Given the description of an element on the screen output the (x, y) to click on. 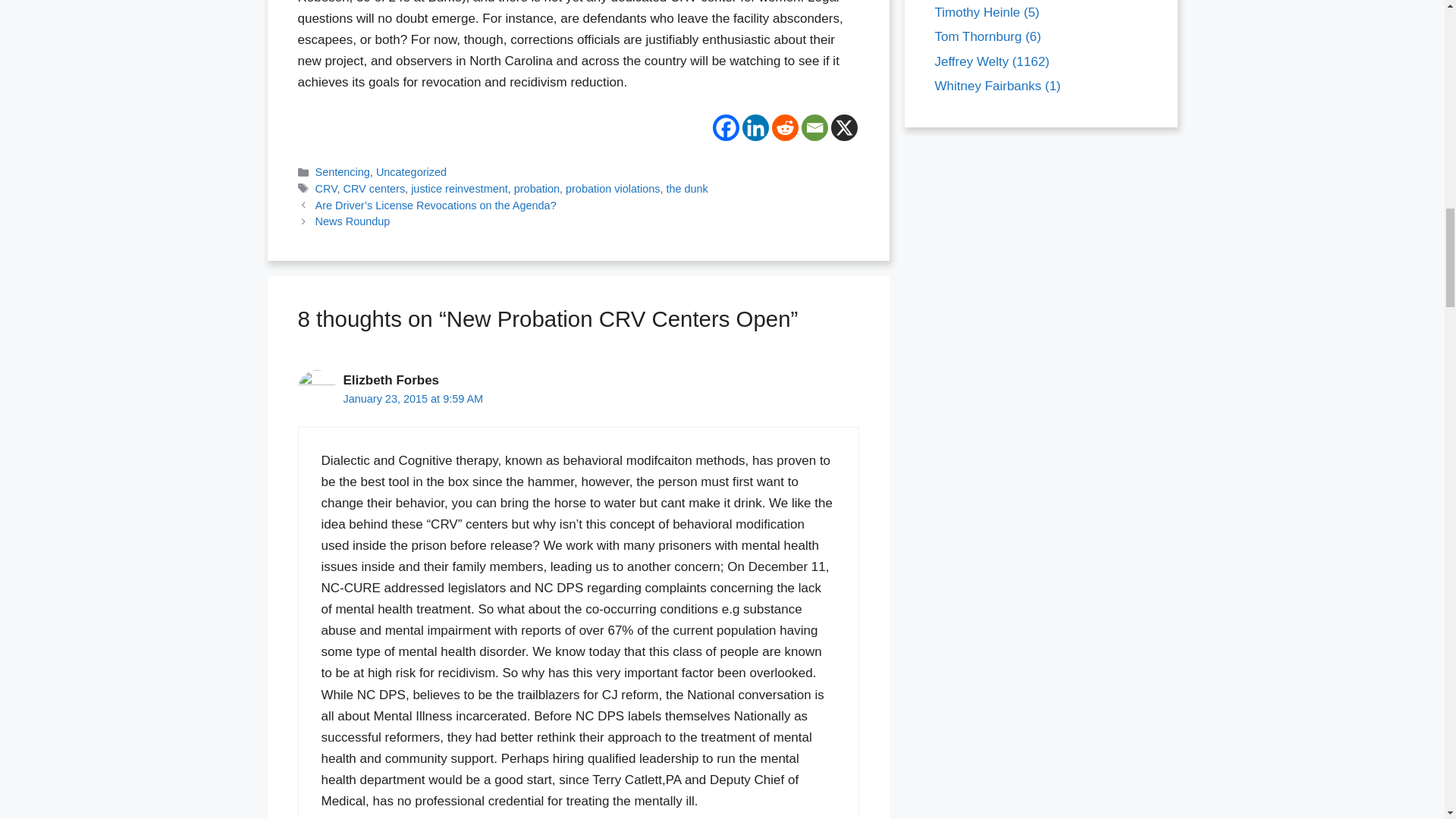
probation violations (612, 188)
News Roundup (352, 221)
Reddit (784, 127)
Linkedin (754, 127)
CRV (326, 188)
January 23, 2015 at 9:59 AM (412, 398)
the dunk (686, 188)
Sentencing (342, 172)
Uncategorized (410, 172)
X (844, 127)
